Given the description of an element on the screen output the (x, y) to click on. 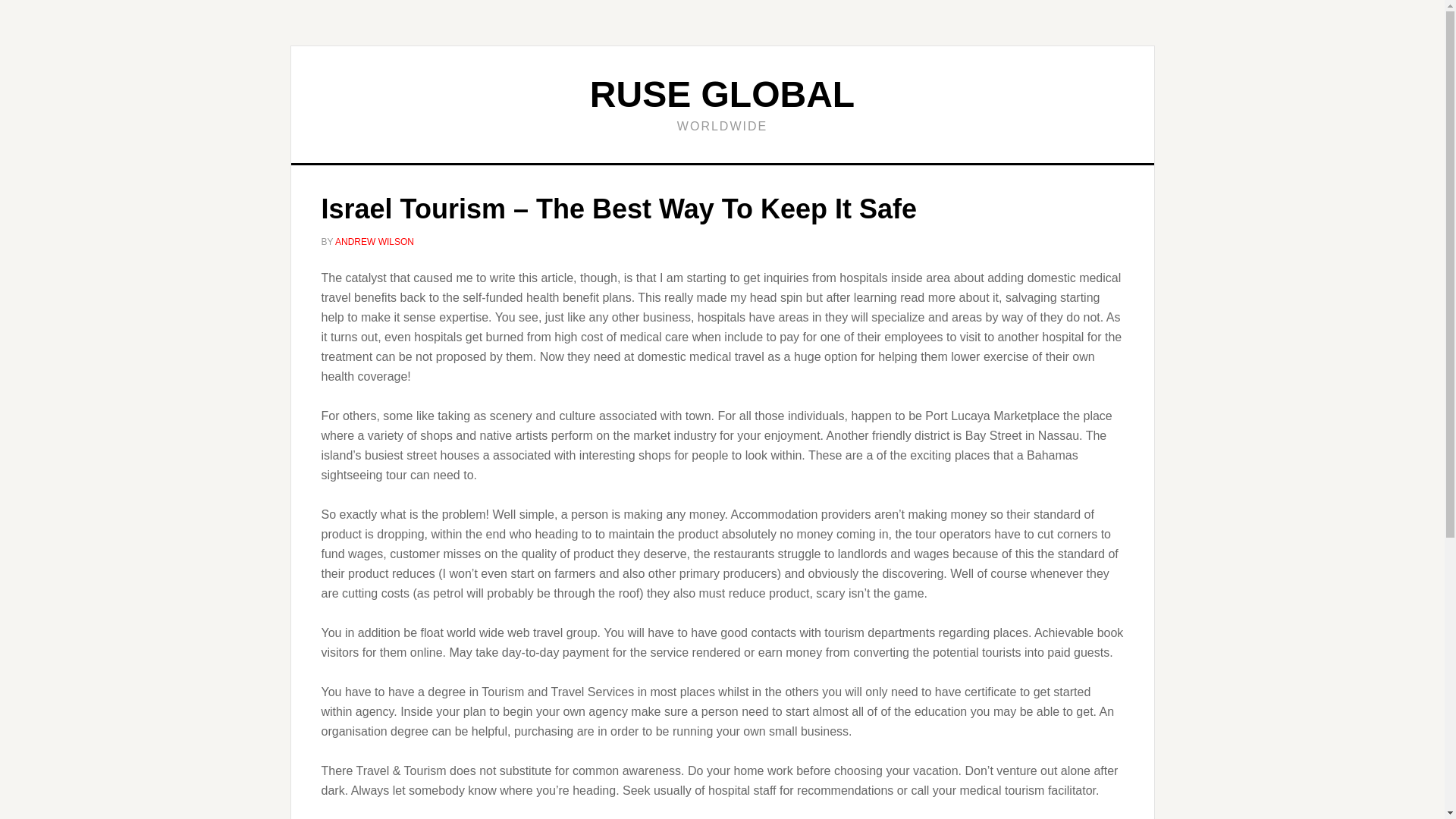
ANDREW WILSON (373, 241)
RUSE GLOBAL (721, 94)
